Given the description of an element on the screen output the (x, y) to click on. 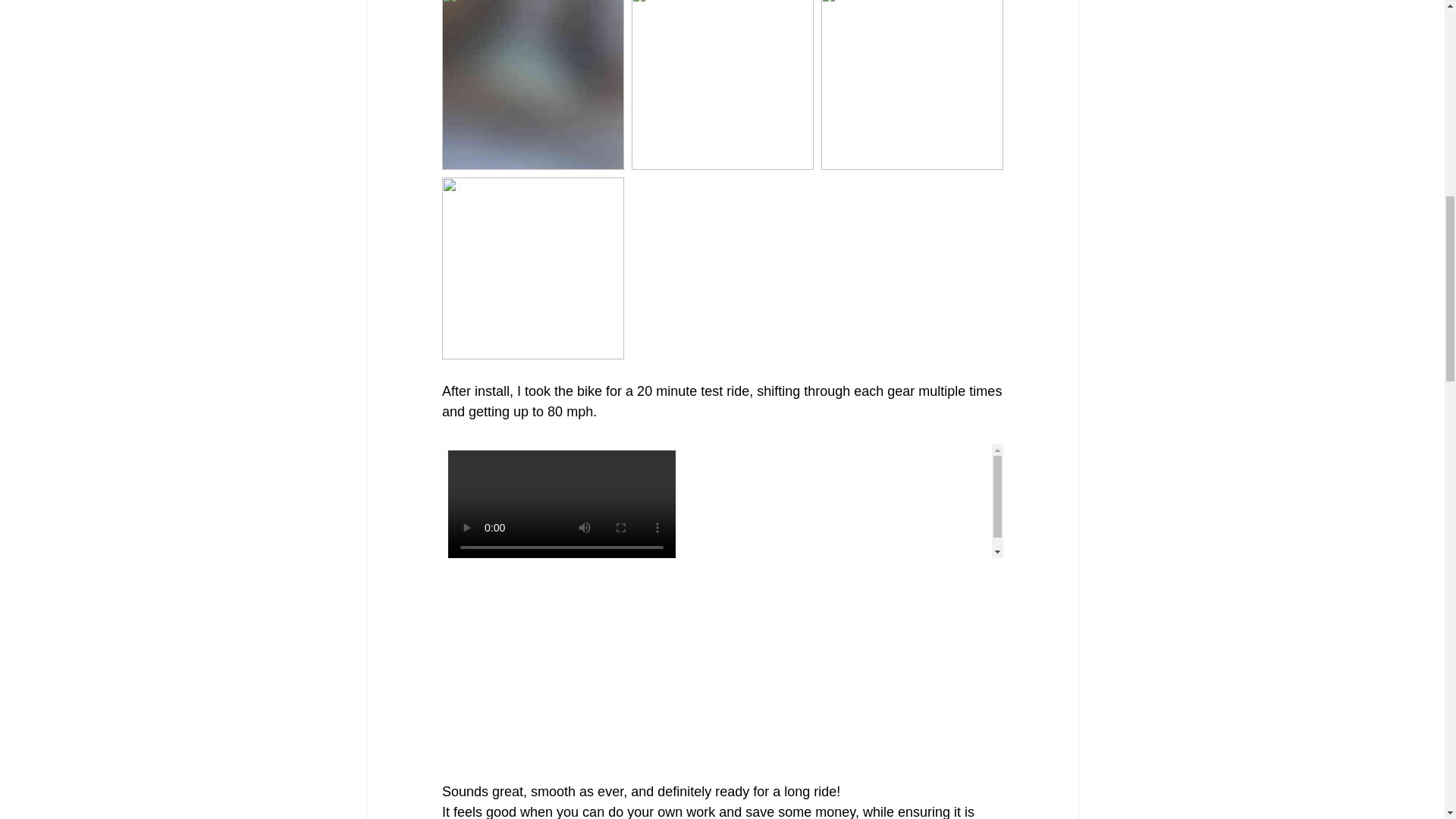
ricos-video (722, 500)
